Given the description of an element on the screen output the (x, y) to click on. 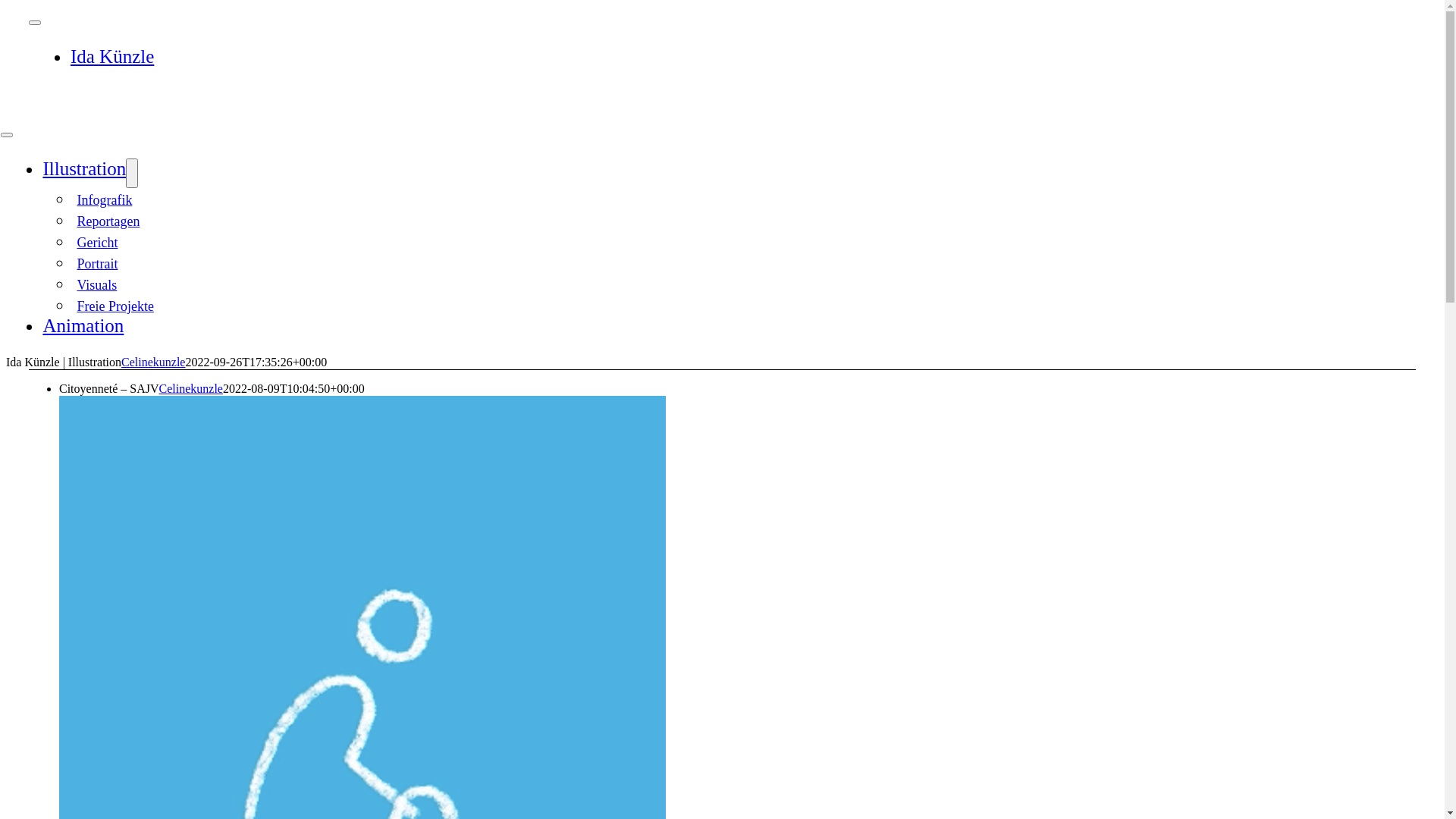
Zum Inhalt springen Element type: text (5, 5)
Celinekunzle Element type: text (153, 361)
Toggle Navigation Element type: text (34, 22)
Portrait Element type: text (96, 263)
Celinekunzle Element type: text (102, 388)
Animation Element type: text (82, 323)
Toggle Navigation Element type: text (6, 134)
Visuals Element type: text (96, 285)
Freie Projekte Element type: text (114, 306)
Infografik Element type: text (103, 200)
Reportagen Element type: text (107, 221)
Gericht Element type: text (96, 242)
Illustration Element type: text (83, 166)
